Given the description of an element on the screen output the (x, y) to click on. 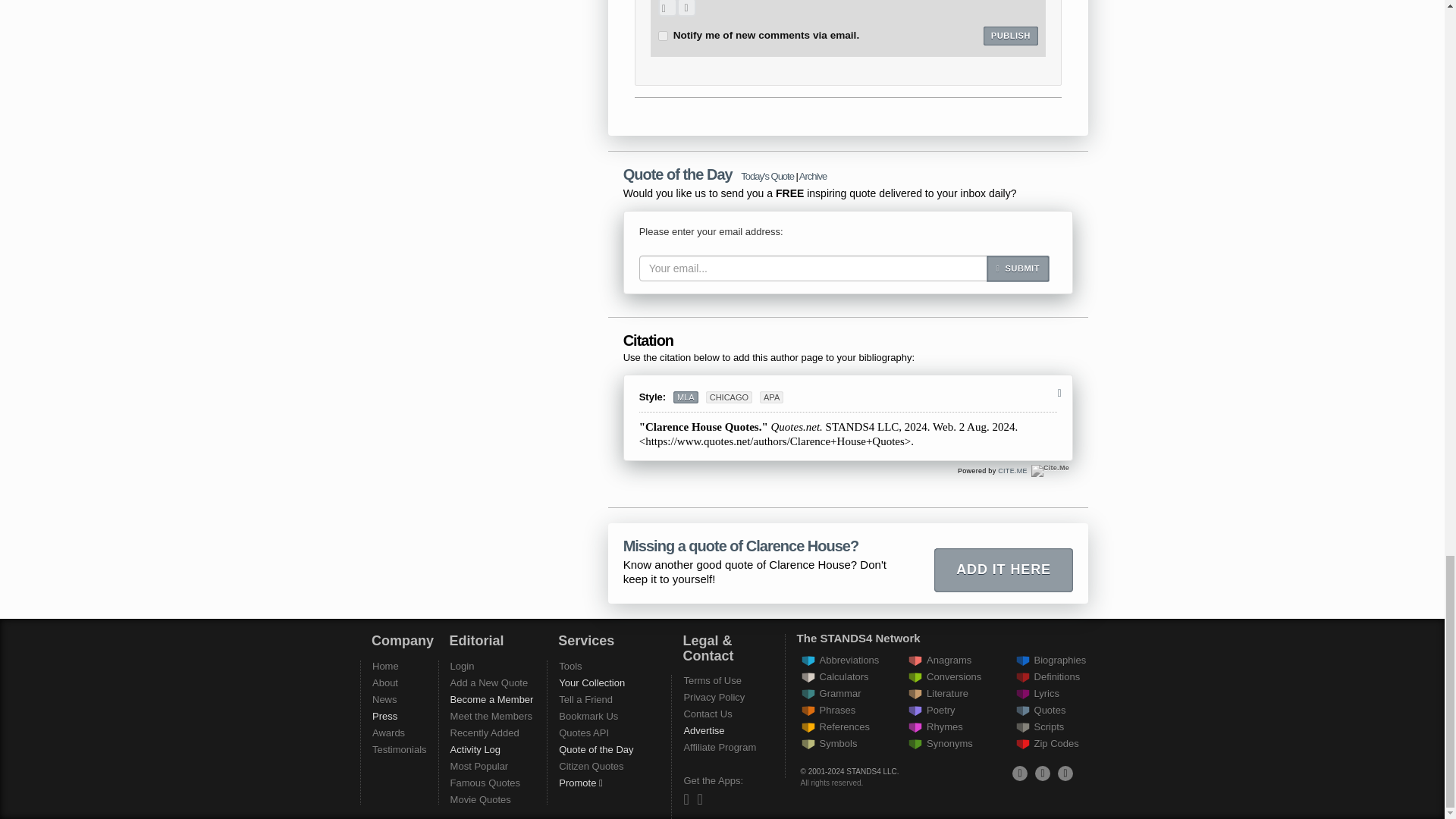
Cite.Me (1012, 470)
Cite.Me (1049, 470)
Cite.Me (1050, 470)
on (663, 35)
Record a sound (686, 8)
Upload an image (667, 8)
